Given the description of an element on the screen output the (x, y) to click on. 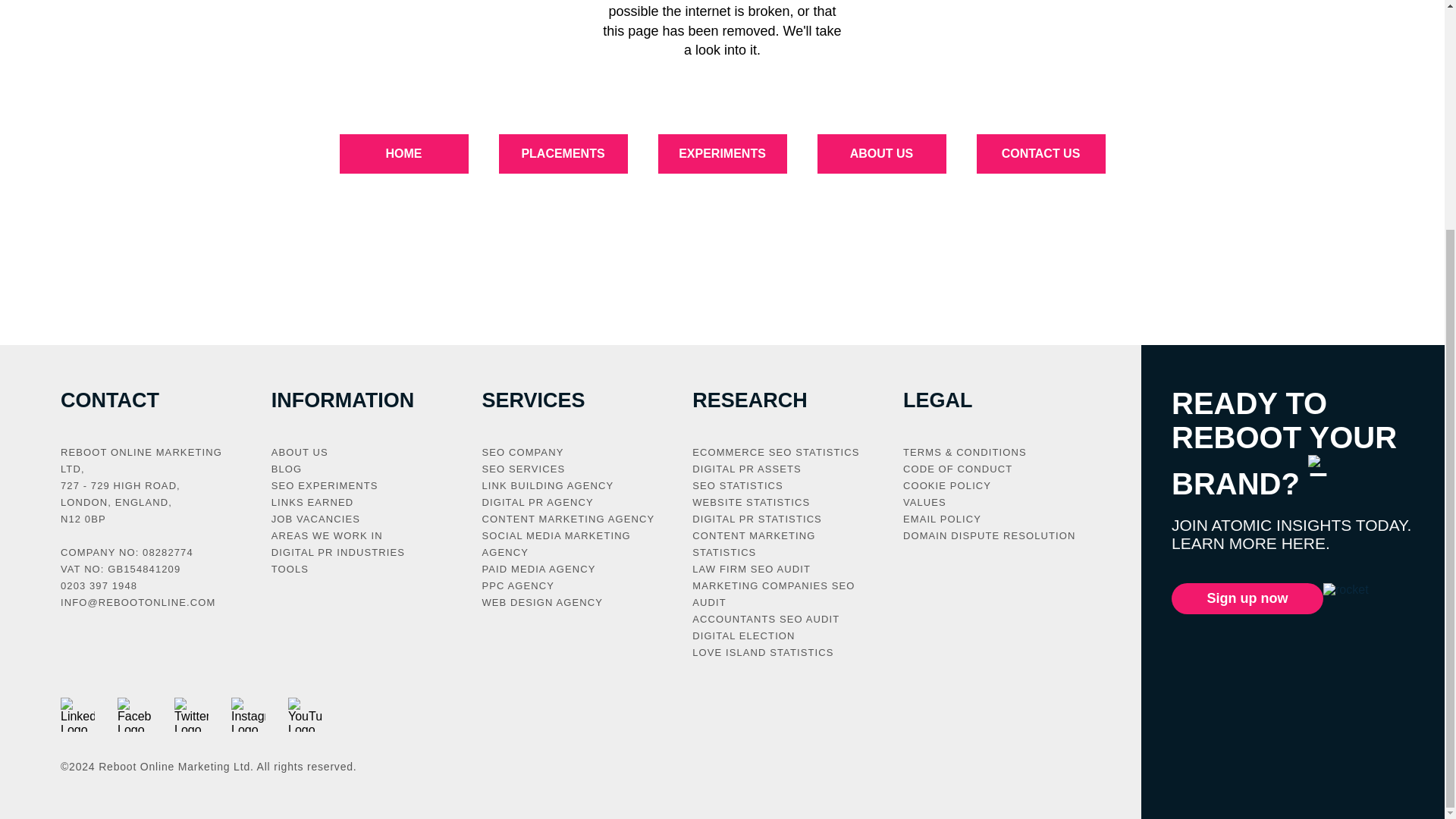
Home (403, 153)
Experiments (722, 153)
About Us (881, 153)
Contact Us (1040, 153)
Placements (563, 153)
